Given the description of an element on the screen output the (x, y) to click on. 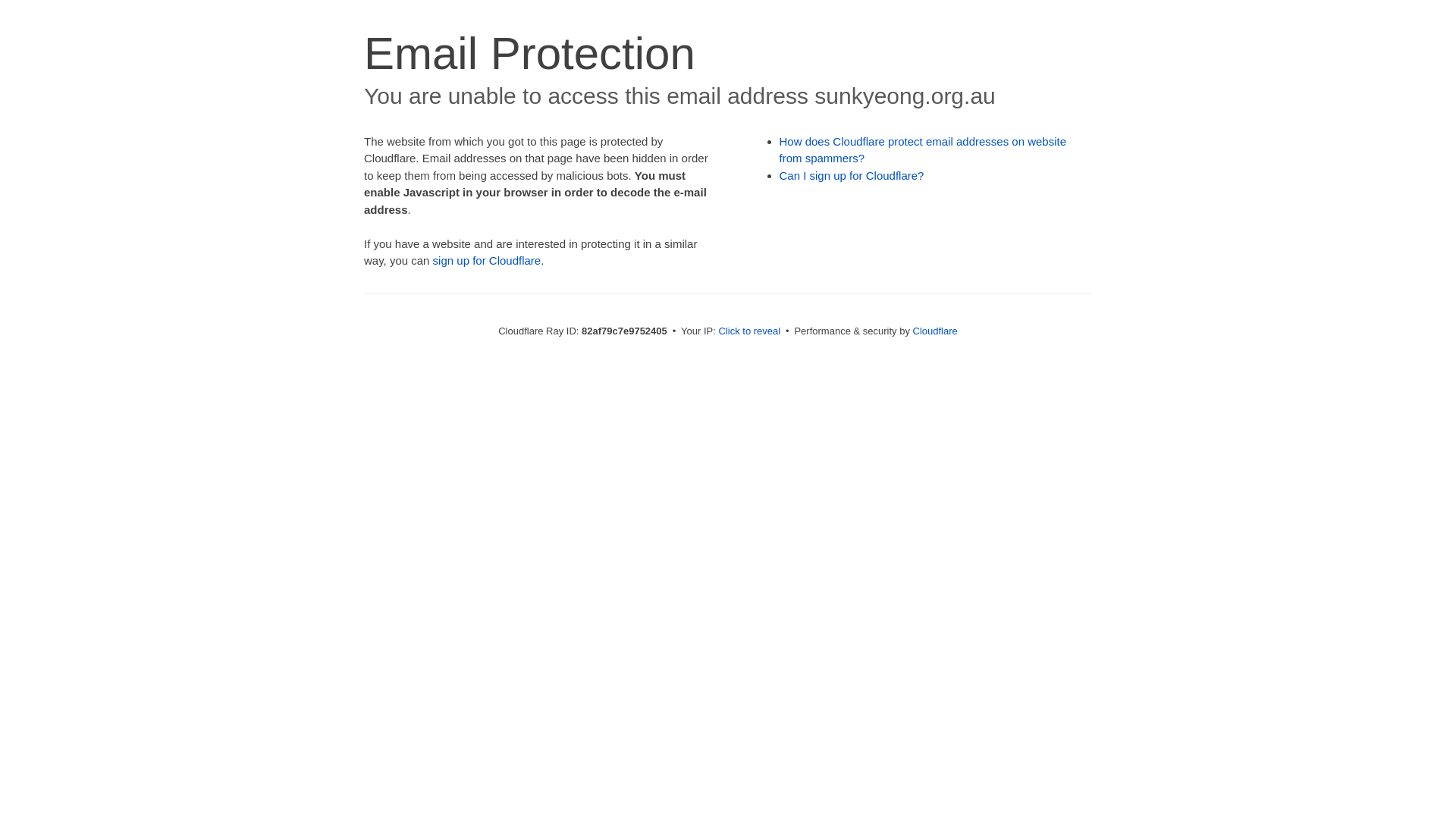
Click to reveal Element type: text (749, 330)
Cloudflare Element type: text (935, 330)
Can I sign up for Cloudflare? Element type: text (851, 175)
sign up for Cloudflare Element type: text (487, 260)
